Given the description of an element on the screen output the (x, y) to click on. 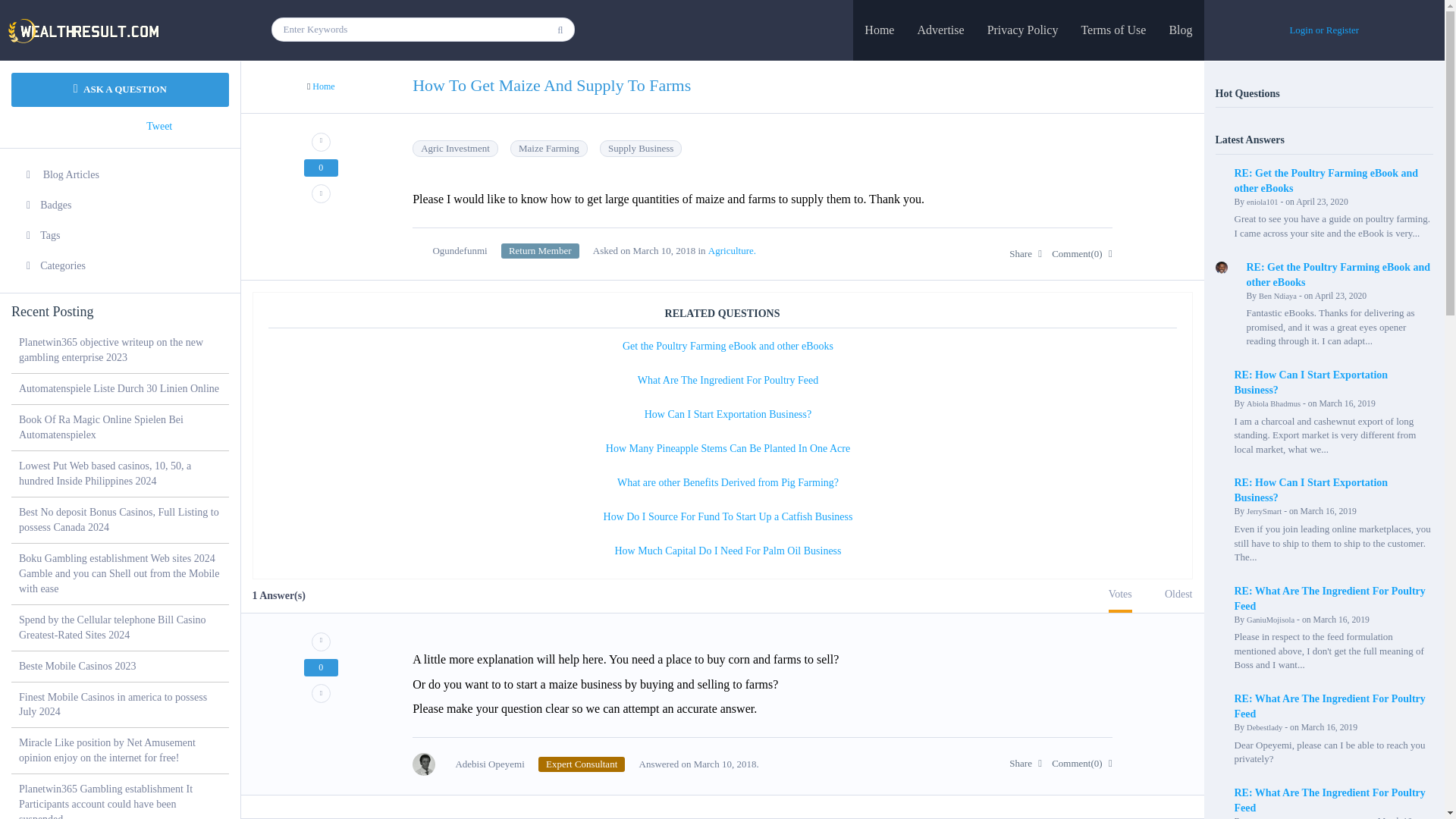
This is useful. (320, 641)
This is not useful (320, 193)
This is not useful (320, 692)
3907 (581, 764)
39 (539, 250)
This is useful. (320, 141)
